Given the description of an element on the screen output the (x, y) to click on. 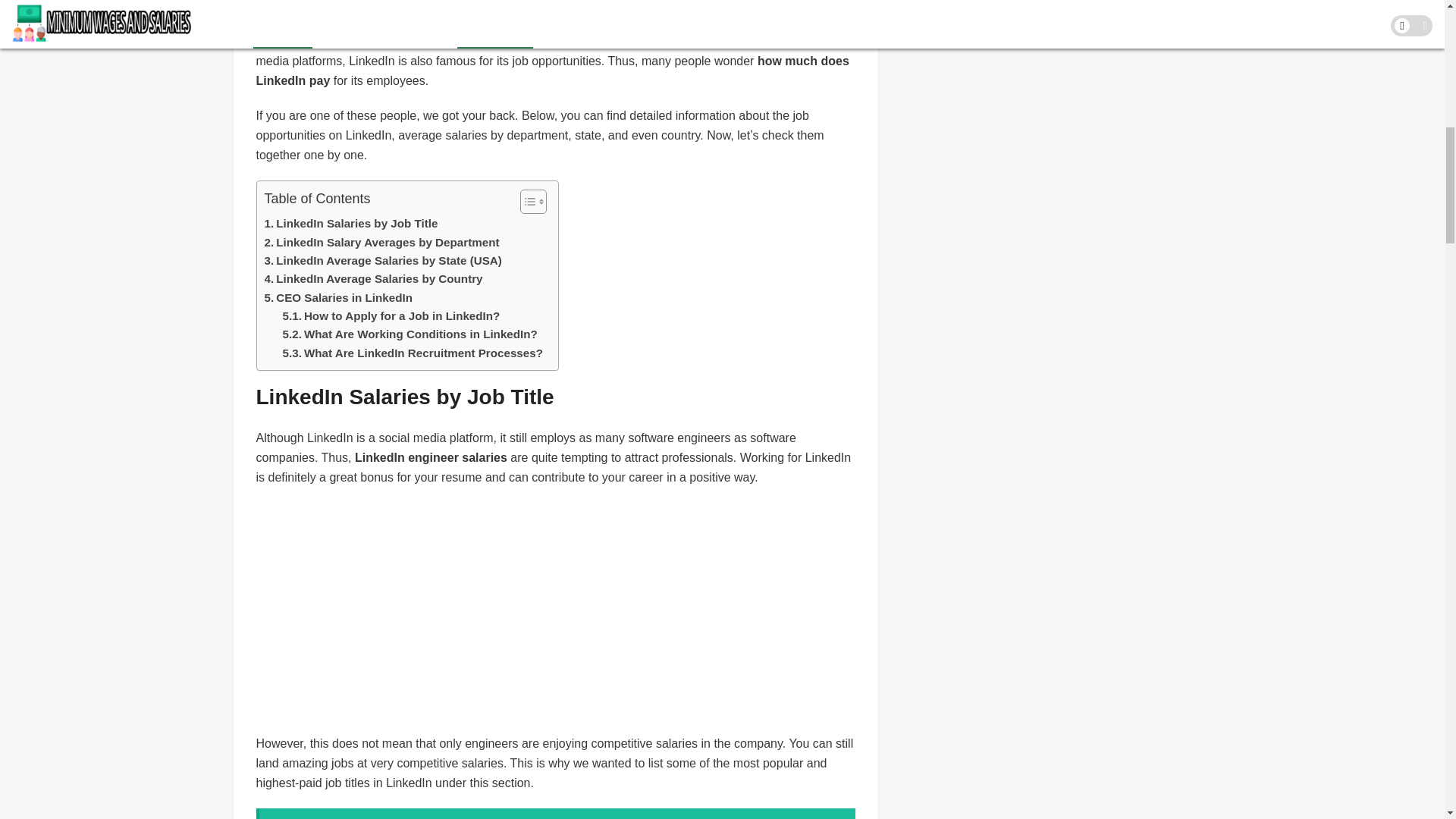
How to Apply for a Job in LinkedIn? (390, 316)
LinkedIn Average Salaries by Country (372, 279)
What Are LinkedIn Recruitment Processes? (411, 352)
What Are Working Conditions in LinkedIn? (409, 334)
LinkedIn Salary Averages by Department (381, 242)
READ  Medical Biller and Coder Salaries in the USA (556, 813)
CEO Salaries in LinkedIn (337, 298)
LinkedIn Salary Averages by Department (381, 242)
LinkedIn Salaries by Job Title (350, 223)
LinkedIn Salaries by Job Title (350, 223)
